Given the description of an element on the screen output the (x, y) to click on. 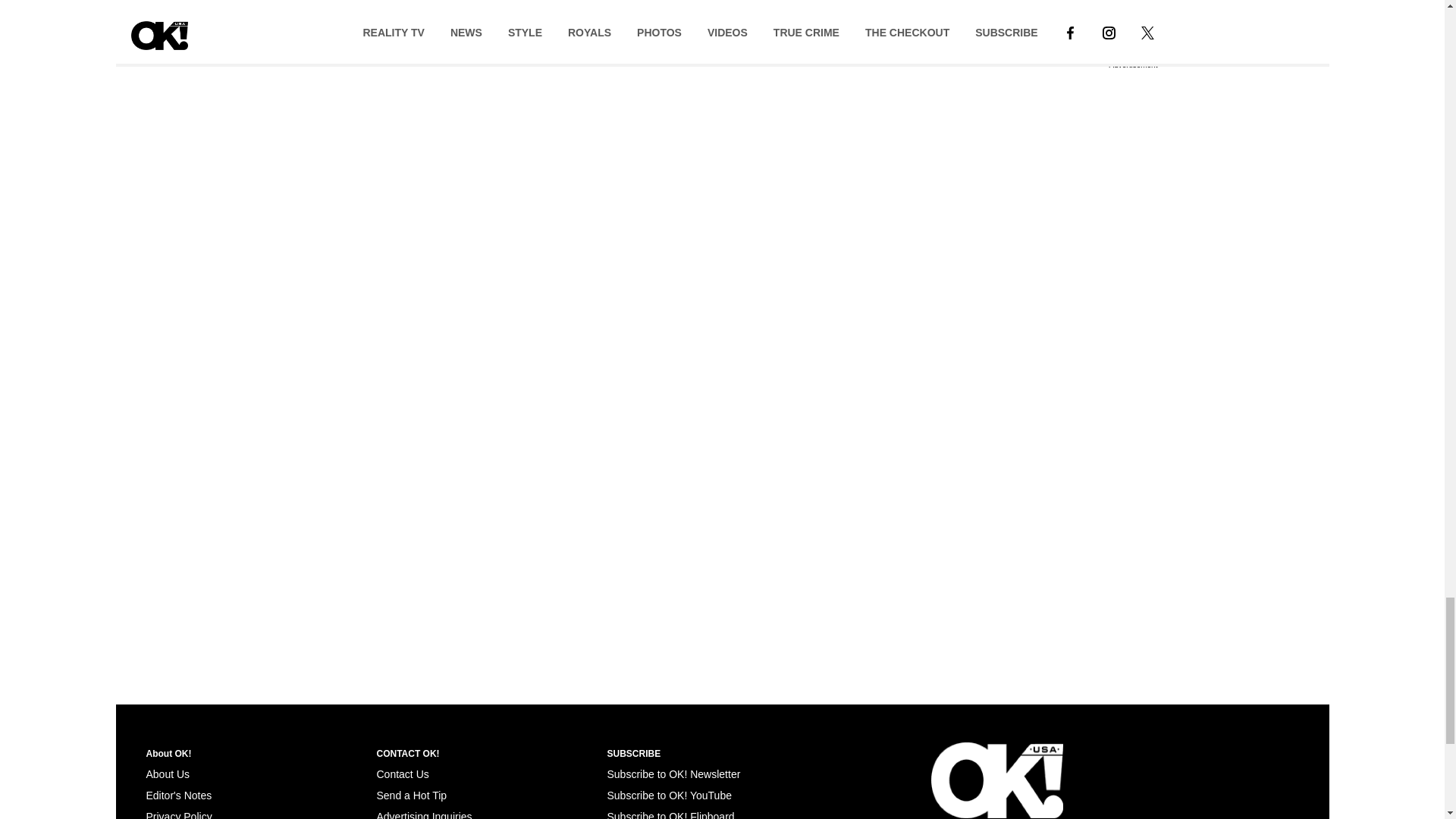
Editor's Notes (178, 795)
Send a Hot Tip (410, 795)
Advertising Inquiries (423, 814)
About Us (167, 774)
Privacy Policy (178, 814)
Contact Us (401, 774)
